Given the description of an element on the screen output the (x, y) to click on. 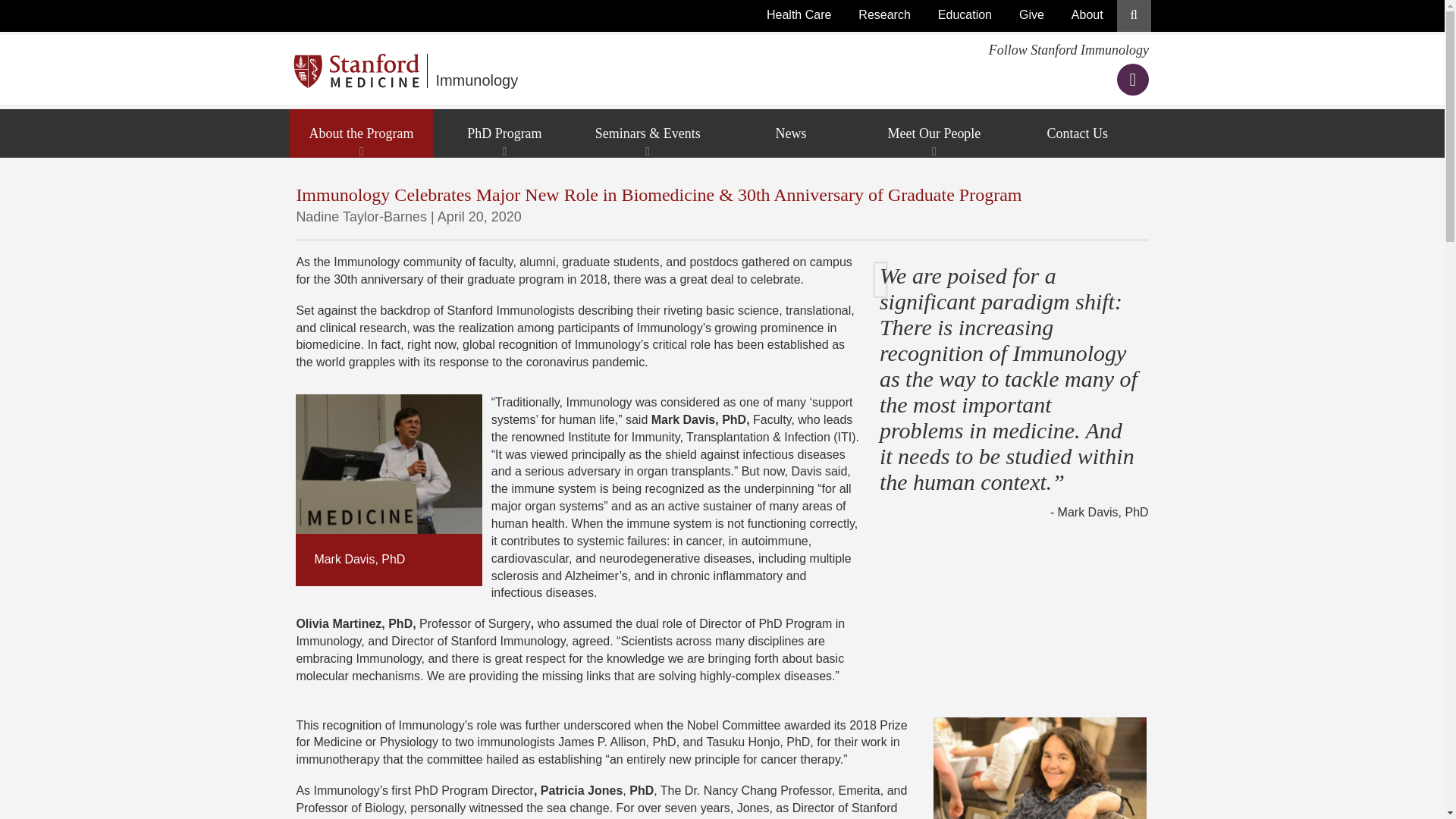
Mark Davis  (388, 463)
Stanford Medicine (361, 70)
See us on twitter (1132, 81)
Immunology (616, 71)
Olivia Martinez  (1039, 768)
